Given the description of an element on the screen output the (x, y) to click on. 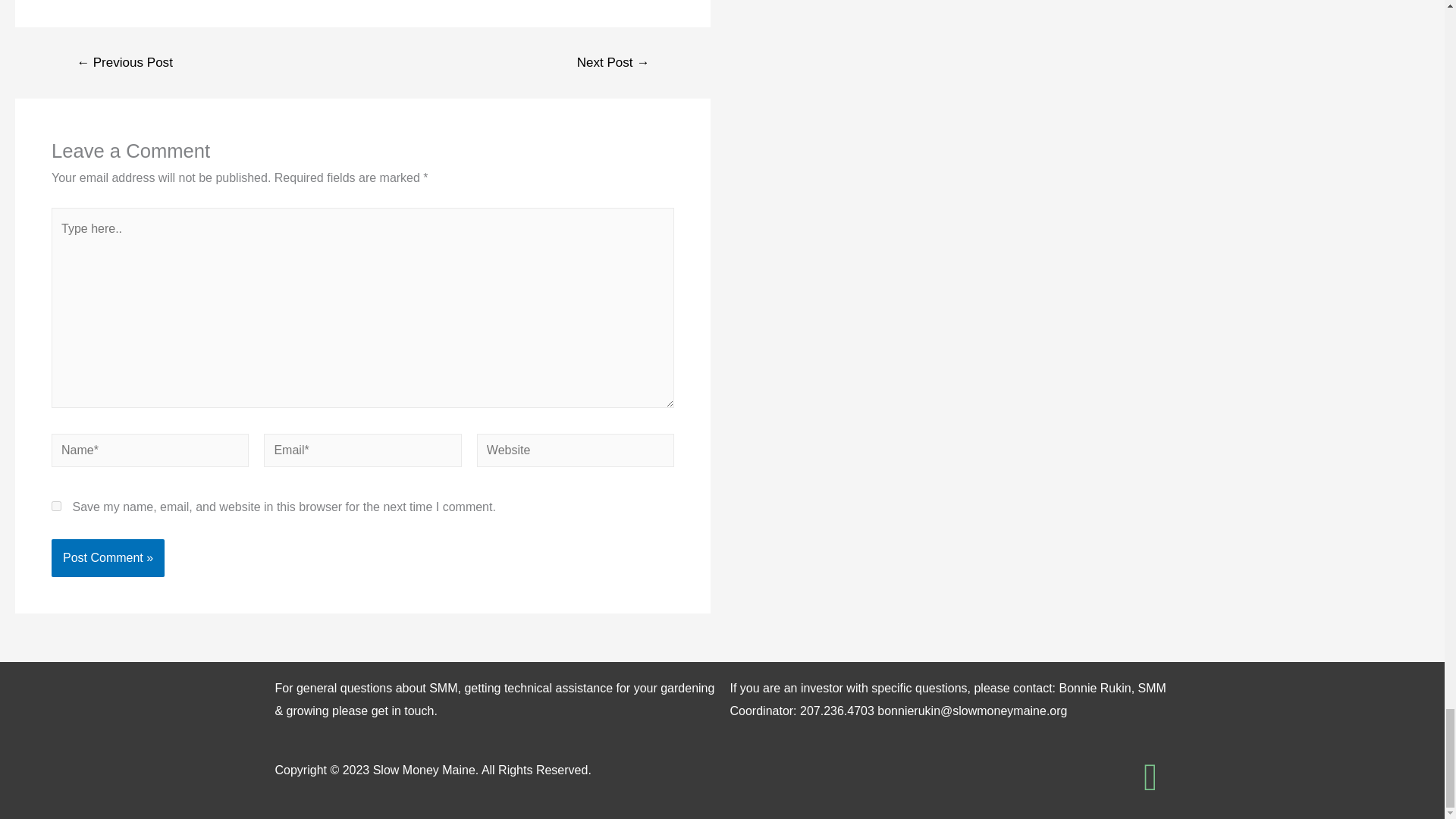
yes (55, 506)
